Given the description of an element on the screen output the (x, y) to click on. 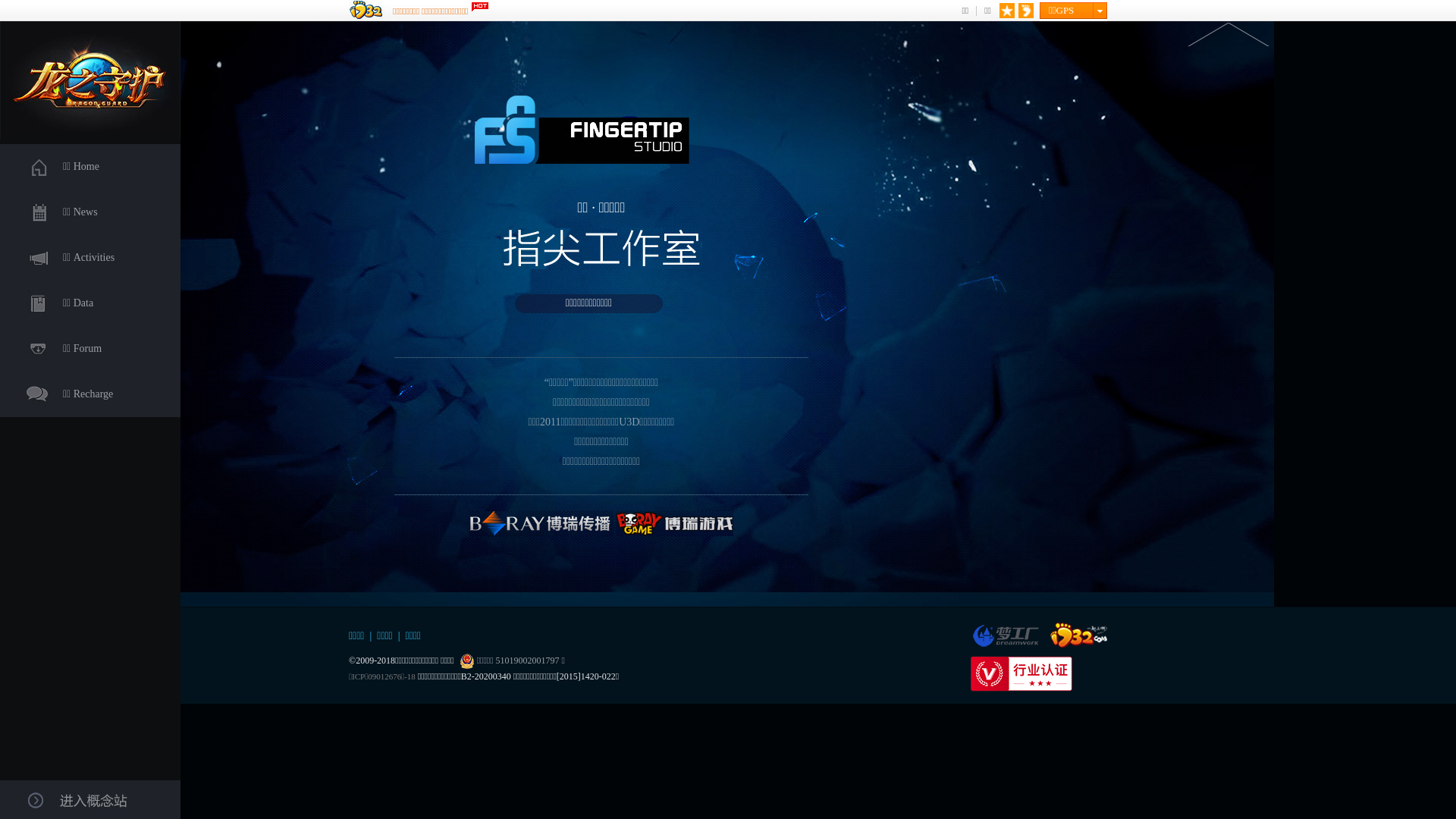
1732 Element type: text (1078, 635)
